Given the description of an element on the screen output the (x, y) to click on. 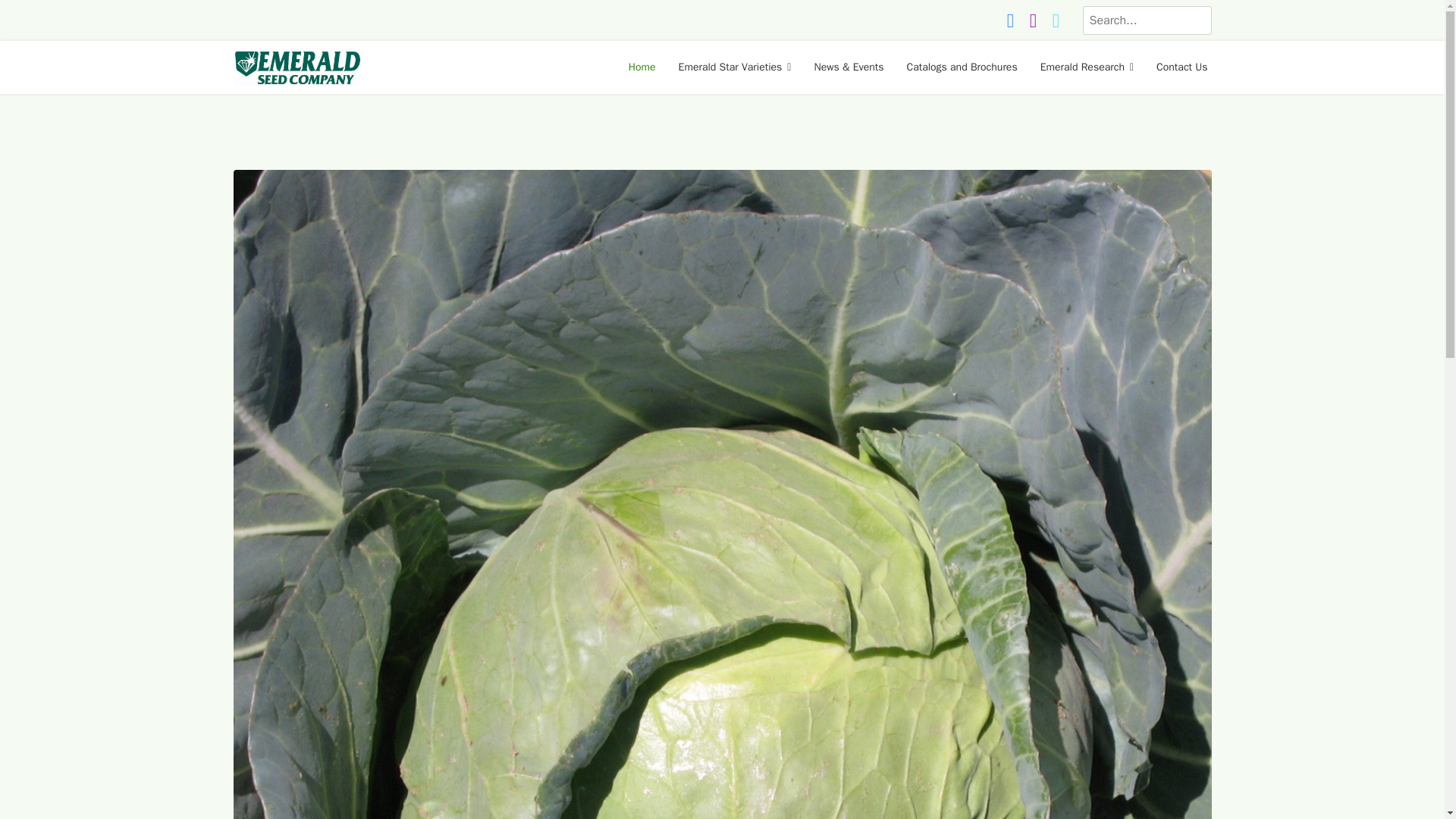
Emerald Research (1086, 67)
Emerald Star Varieties (734, 67)
Home (641, 67)
Contact Us (1175, 67)
Catalogs and Brochures (961, 67)
